Given the description of an element on the screen output the (x, y) to click on. 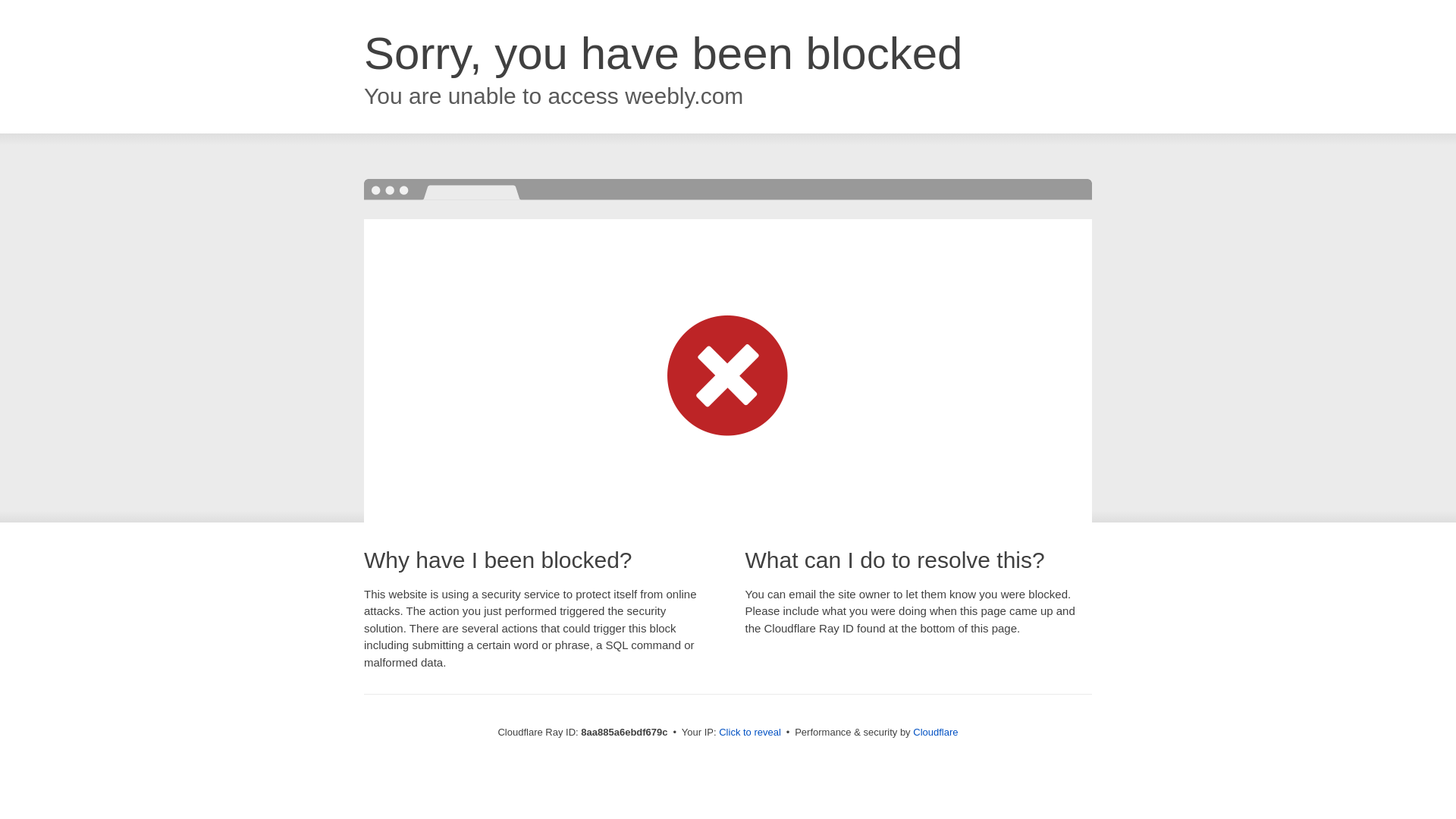
Click to reveal (749, 732)
Cloudflare (935, 731)
